Given the description of an element on the screen output the (x, y) to click on. 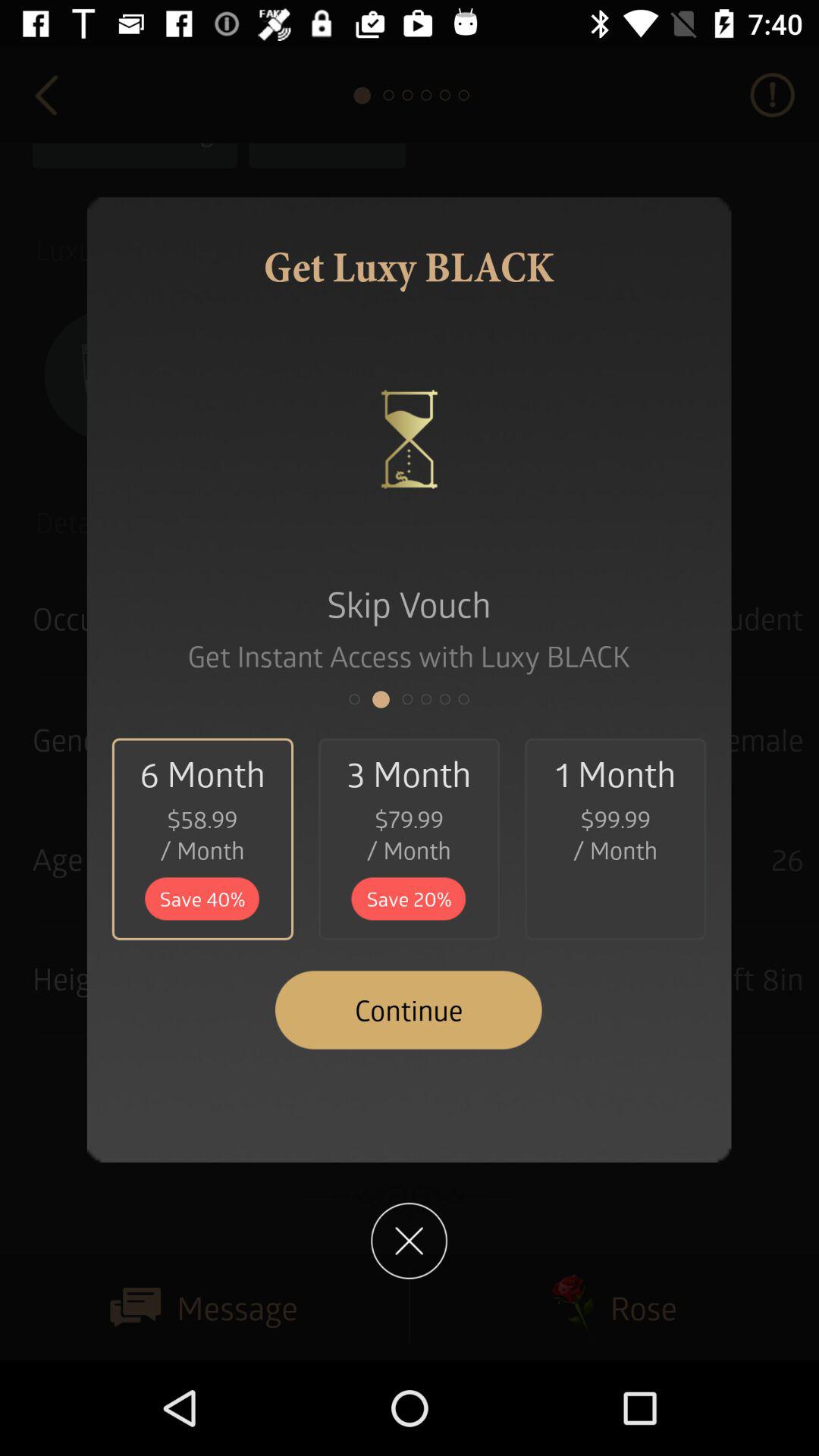
close option (408, 1240)
